Given the description of an element on the screen output the (x, y) to click on. 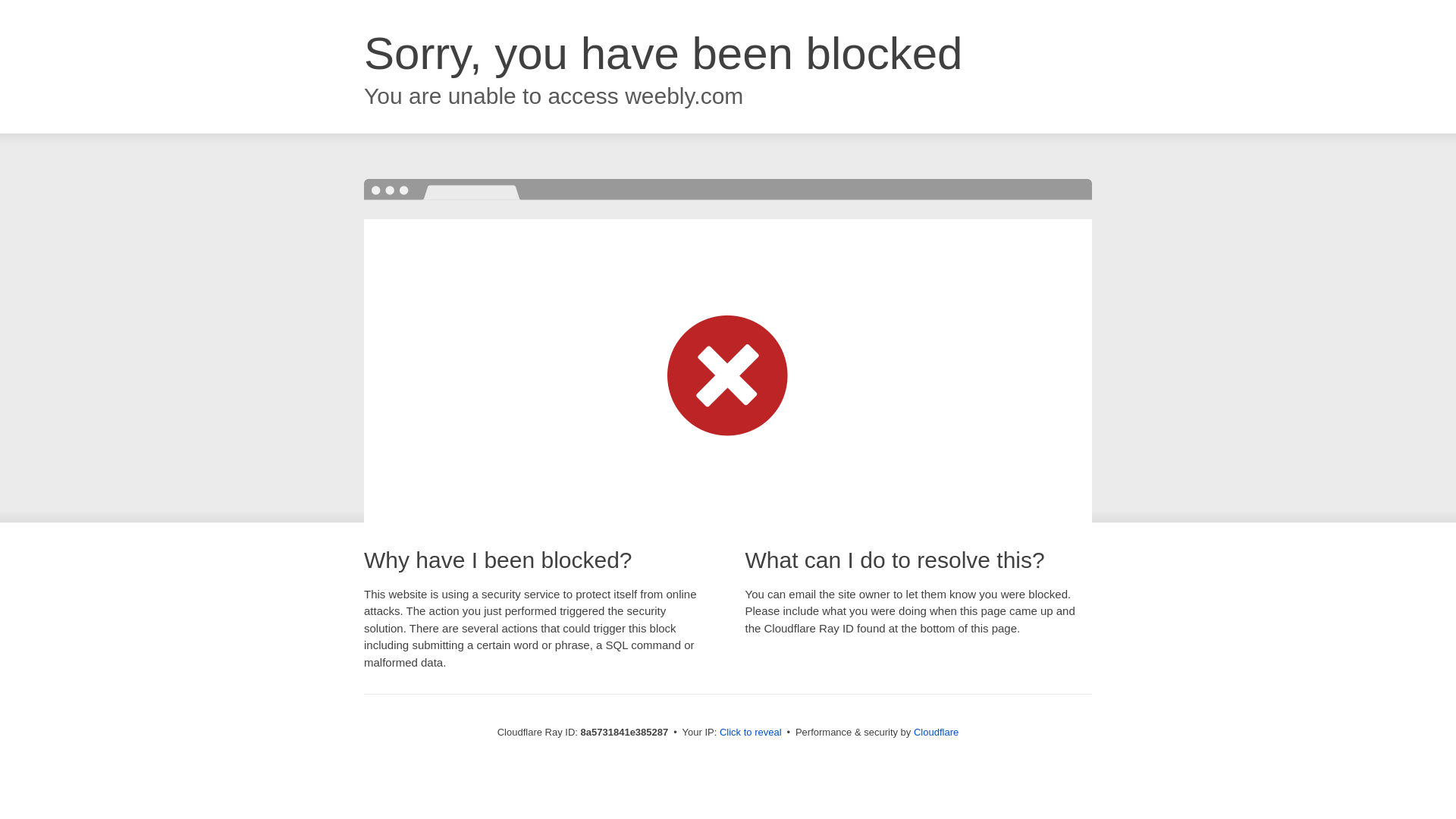
Cloudflare (936, 731)
Click to reveal (750, 732)
